Given the description of an element on the screen output the (x, y) to click on. 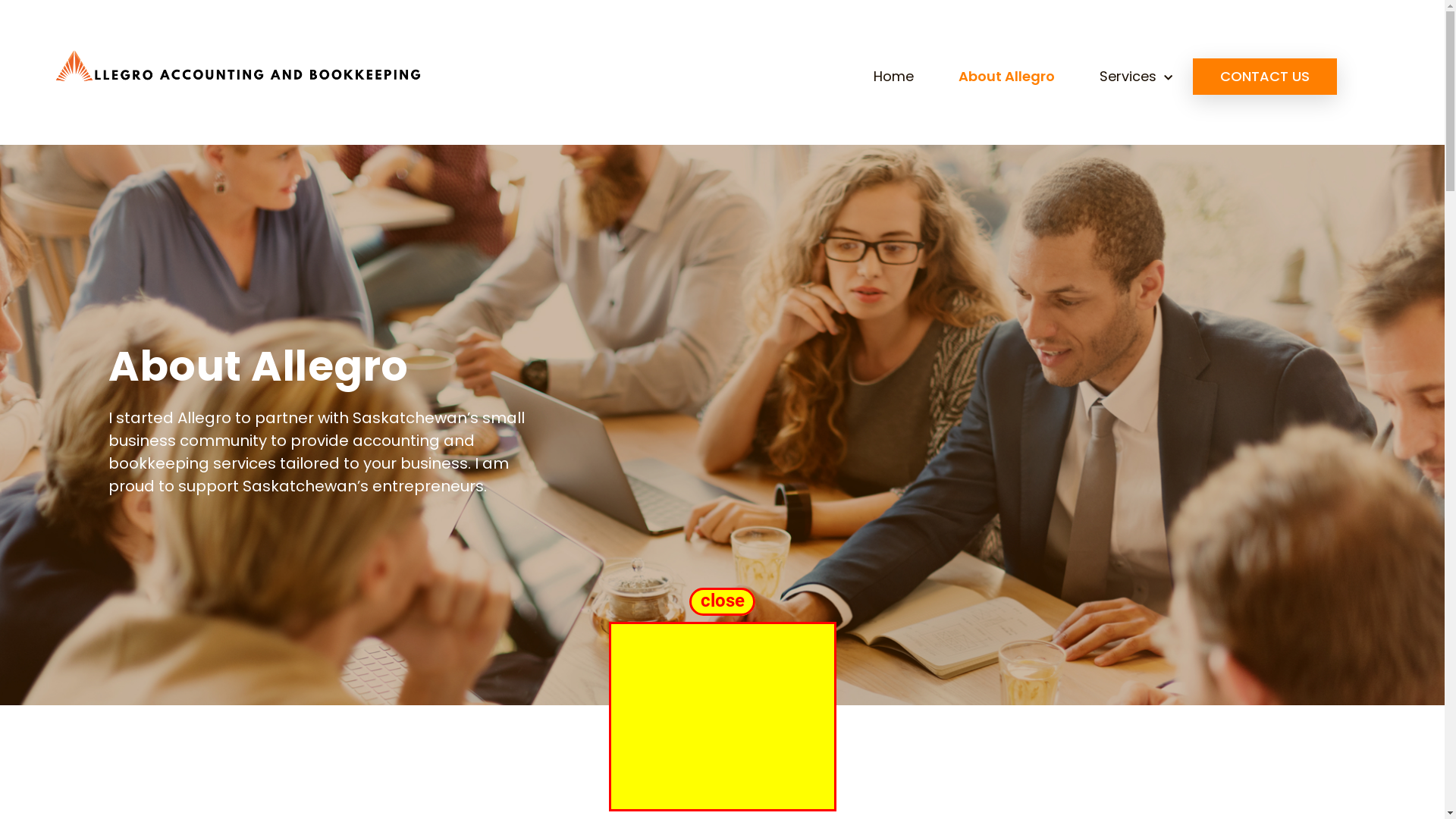
CONTACT US Element type: text (1264, 76)
close Element type: text (722, 599)
Services Element type: text (1135, 76)
About Allegro Element type: text (1006, 76)
Home Element type: text (893, 76)
